Given the description of an element on the screen output the (x, y) to click on. 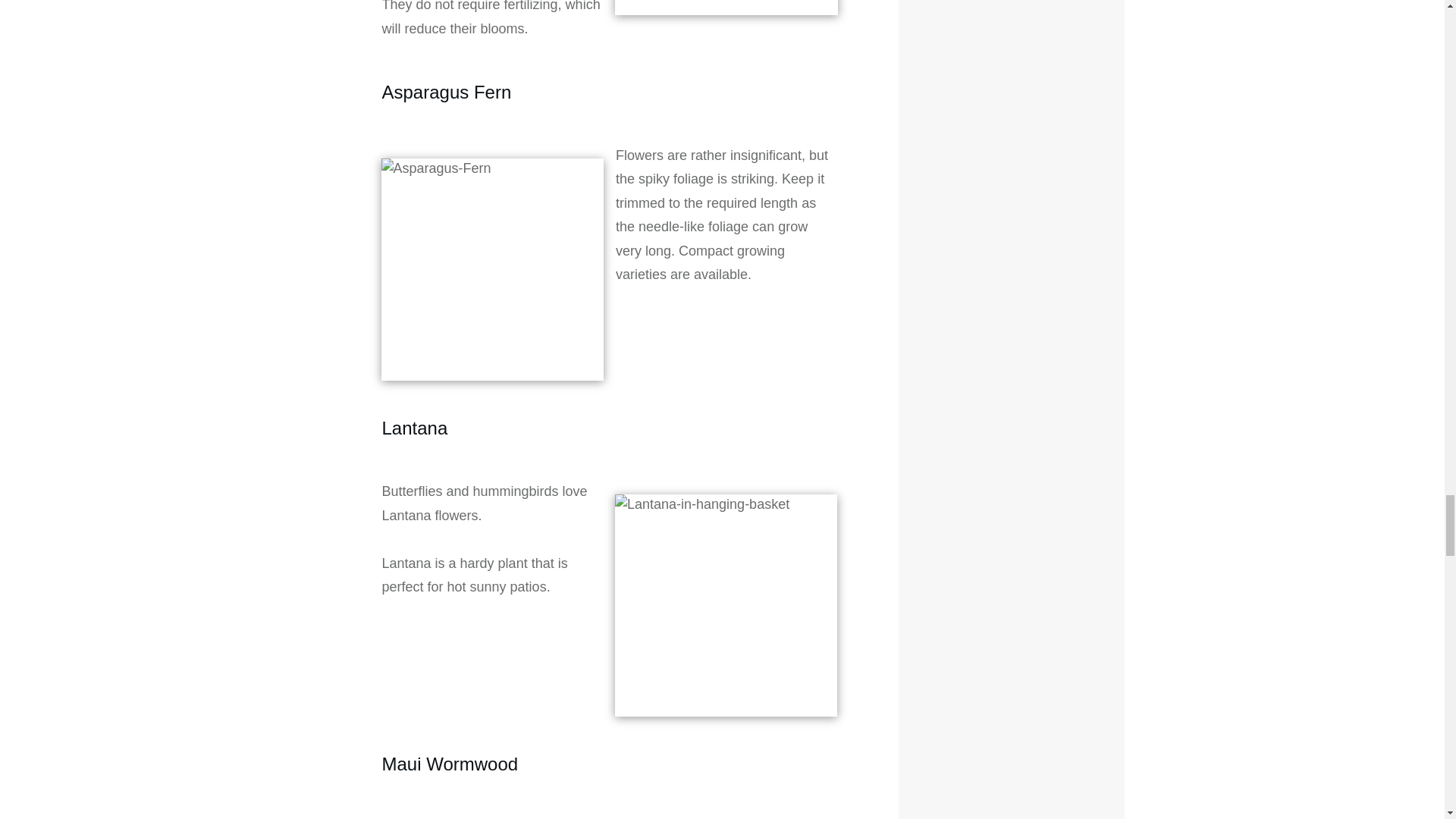
Nasturtiums-in-hanging-basket (726, 7)
Asparagus-Fern (492, 269)
Lantana-in-hanging-basket (725, 605)
